Given the description of an element on the screen output the (x, y) to click on. 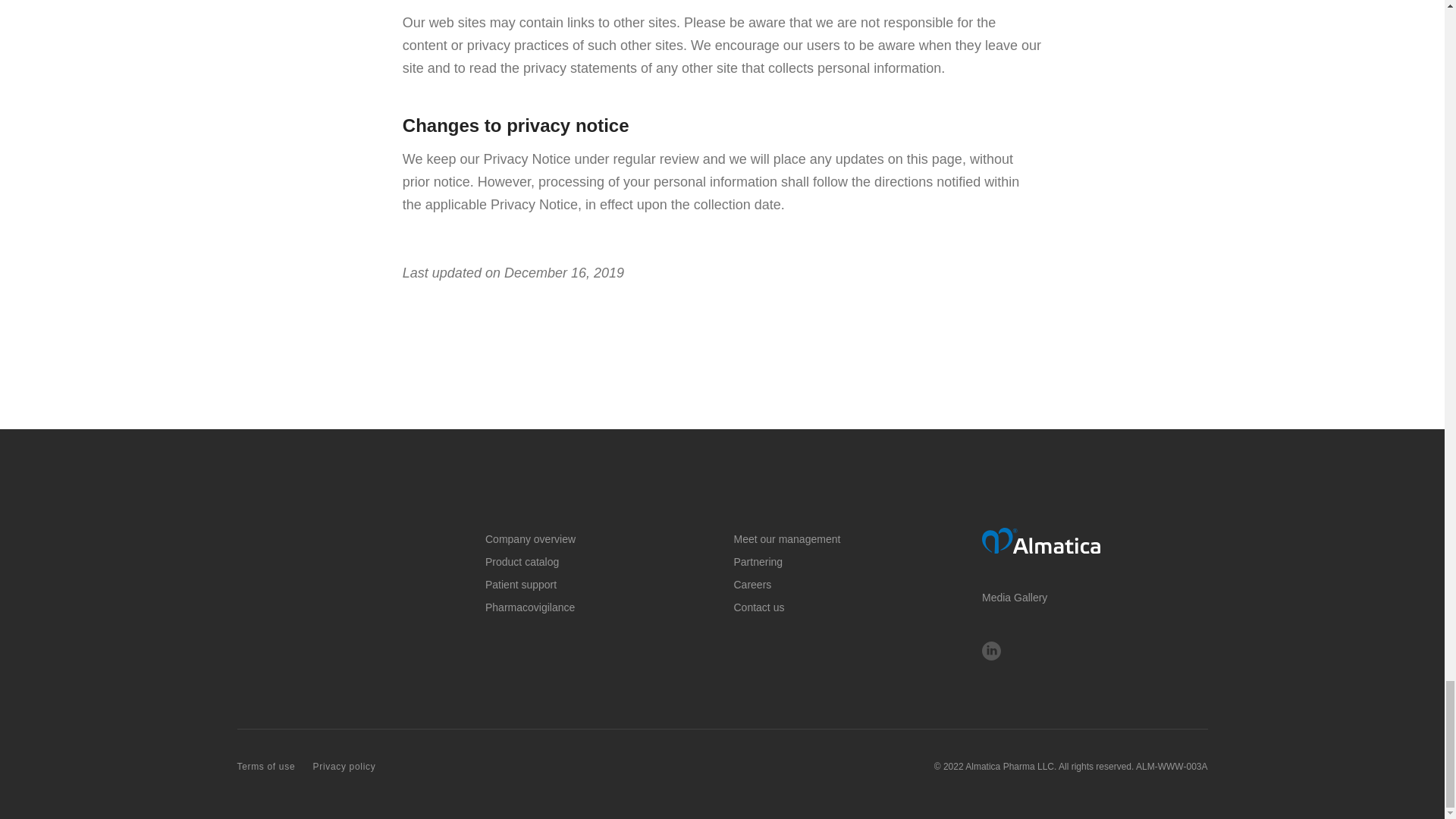
Product catalog (521, 561)
Company overview (529, 538)
Meet our management (787, 538)
Partnering (758, 561)
